Given the description of an element on the screen output the (x, y) to click on. 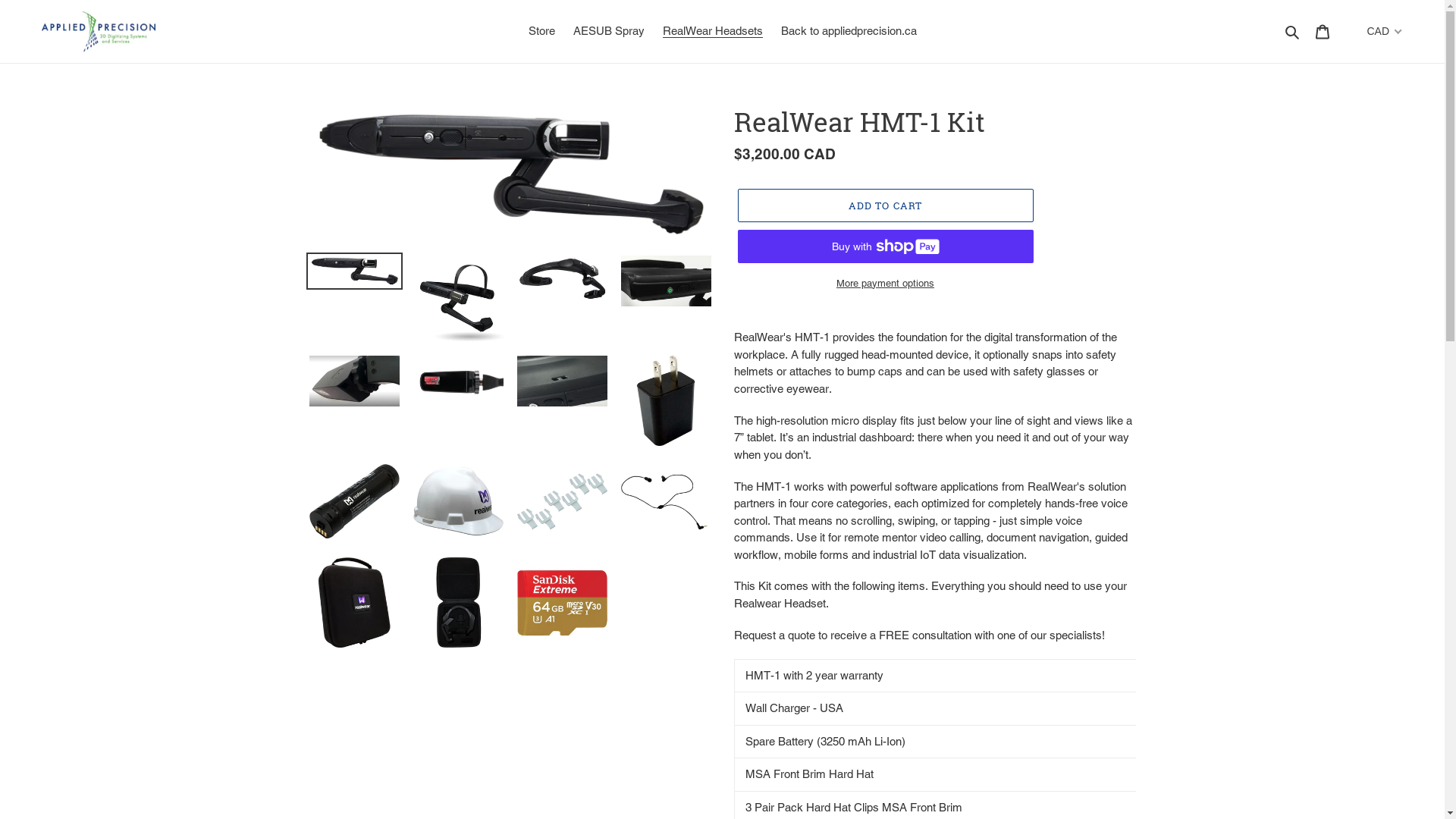
More payment options Element type: text (884, 283)
ADD TO CART Element type: text (884, 205)
Search Element type: text (1293, 30)
AESUB Spray Element type: text (608, 31)
Store Element type: text (540, 31)
Cart Element type: text (1322, 31)
Back to appliedprecision.ca Element type: text (848, 31)
RealWear Headsets Element type: text (712, 31)
